Given the description of an element on the screen output the (x, y) to click on. 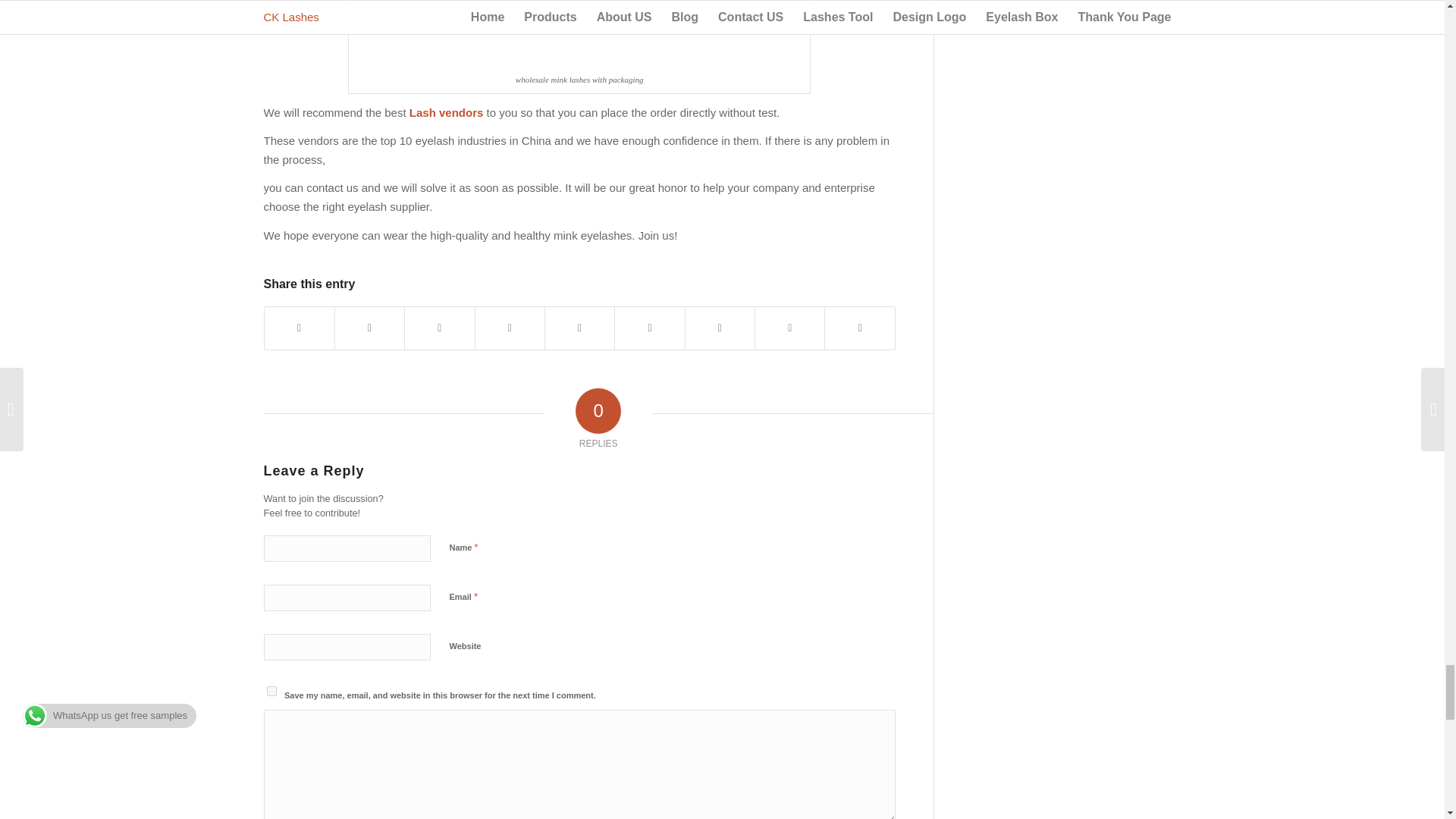
yes (271, 691)
